Given the description of an element on the screen output the (x, y) to click on. 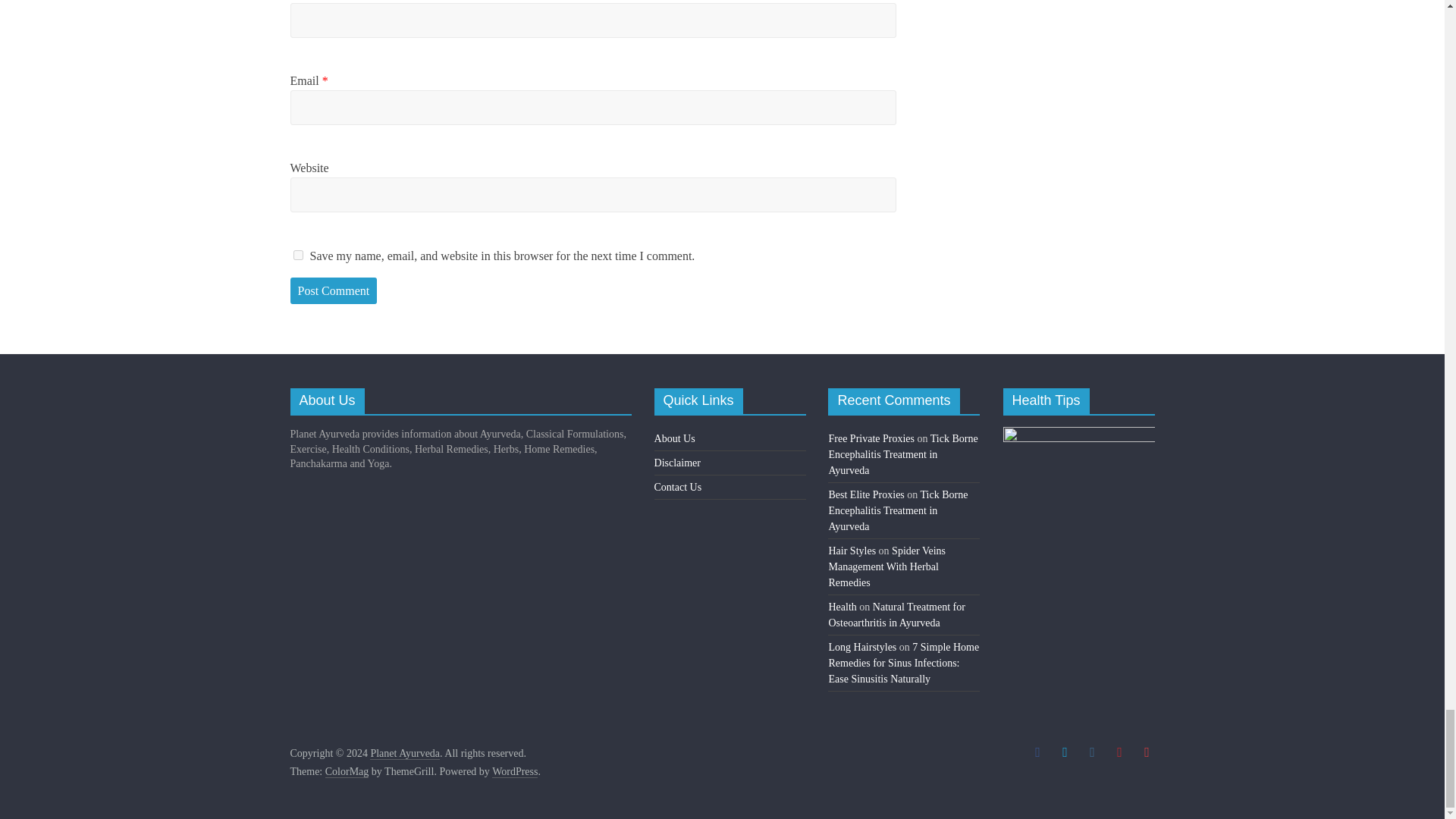
Post Comment (333, 290)
yes (297, 255)
